Given the description of an element on the screen output the (x, y) to click on. 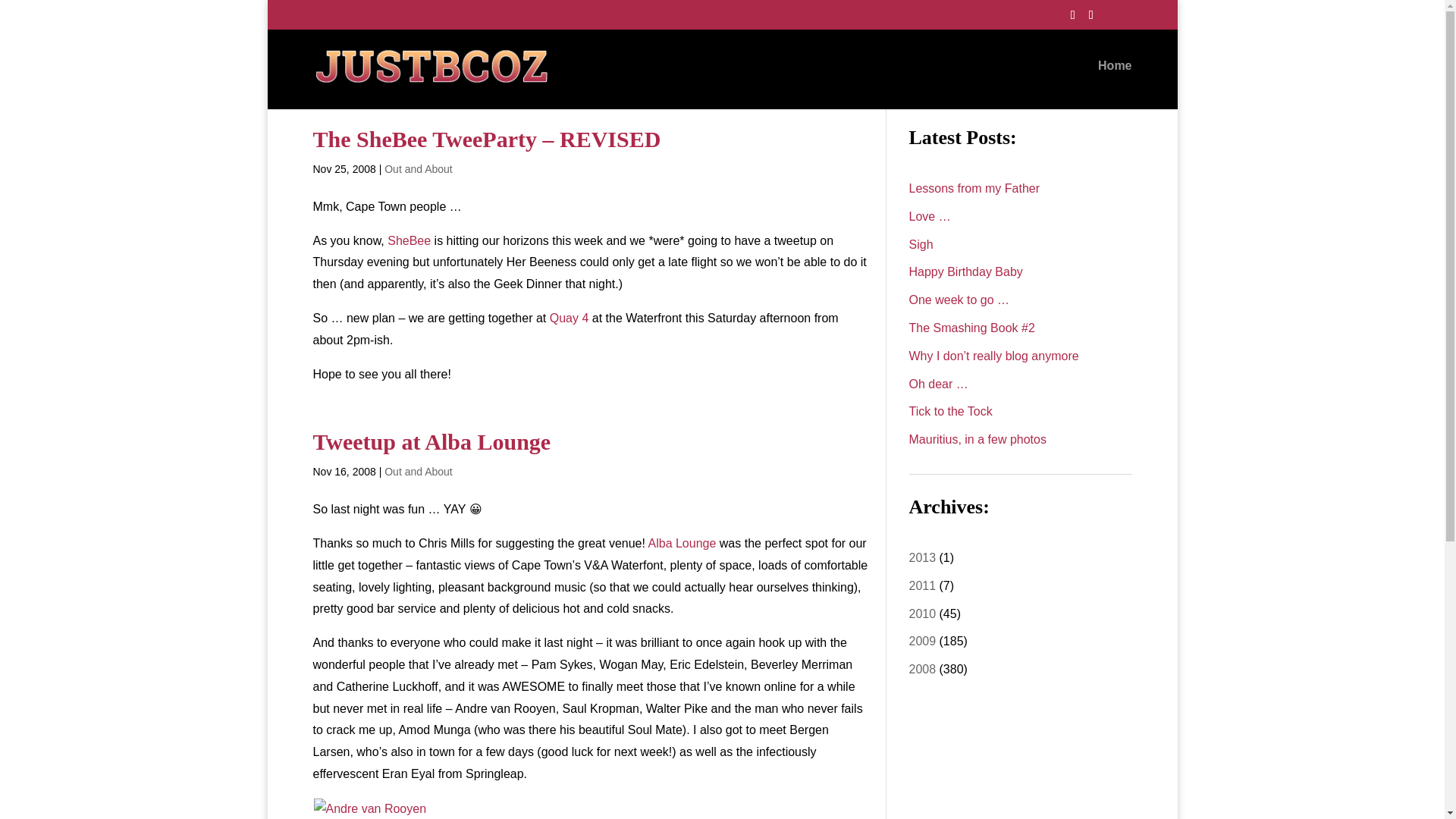
Tweetup at Alba Lounge (431, 441)
Lessons from my Father (973, 187)
Sigh (920, 244)
2011 (922, 585)
Mauritius, in a few photos (976, 439)
Out and About (418, 168)
Out and About (418, 471)
2010 (922, 613)
SheBee (408, 240)
Alba Lounge (681, 543)
